Given the description of an element on the screen output the (x, y) to click on. 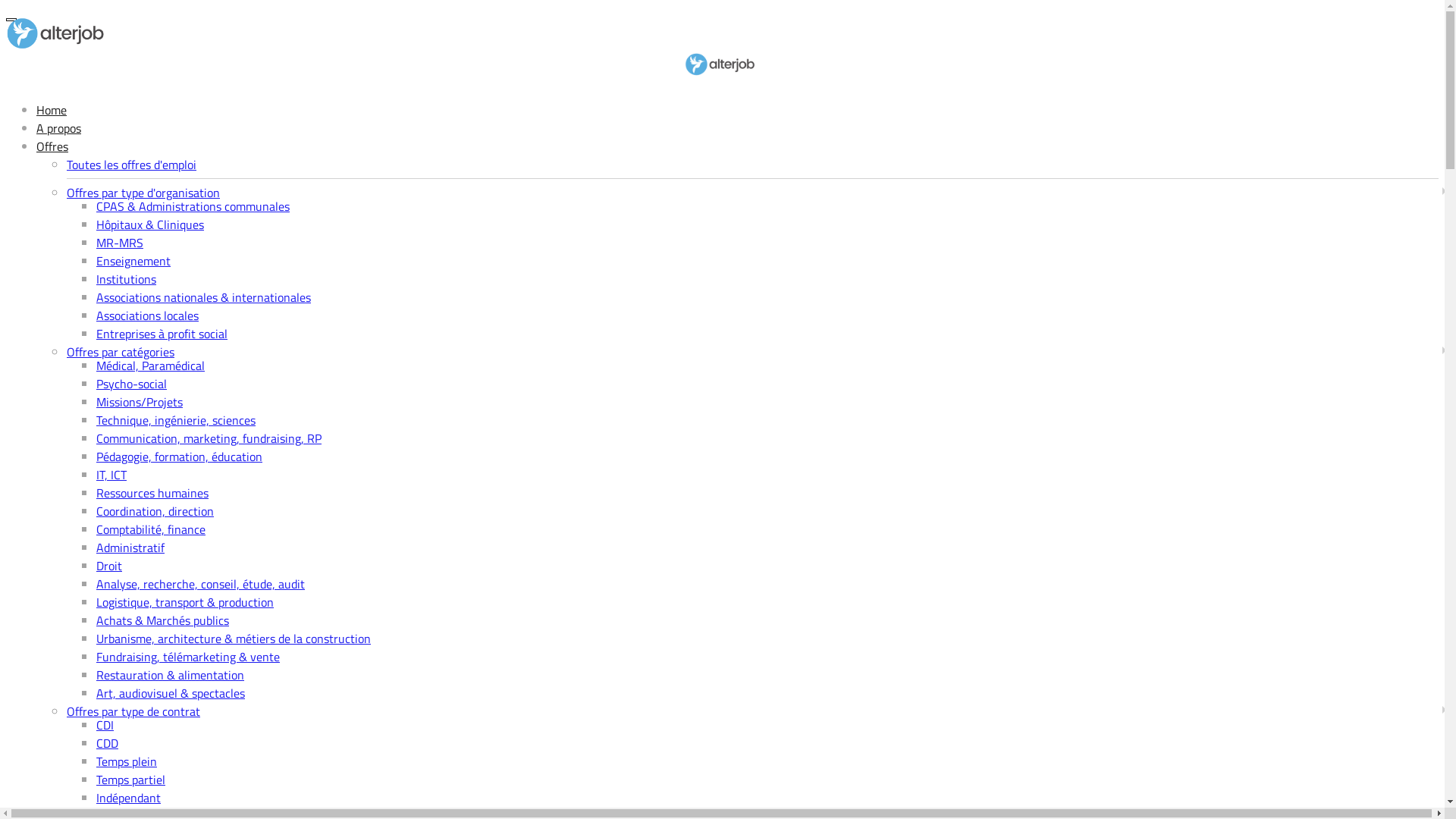
Restauration & alimentation Element type: text (170, 674)
Home Element type: text (51, 109)
Associations locales Element type: text (147, 315)
MR-MRS Element type: text (119, 242)
Offres par type de contrat Element type: text (133, 711)
CDI Element type: text (104, 724)
Offres Element type: text (52, 146)
Temps partiel Element type: text (130, 779)
CPAS & Administrations communales Element type: text (192, 206)
Droit Element type: text (109, 565)
Missions/Projets Element type: text (139, 401)
Ressources humaines Element type: text (152, 492)
IT, ICT Element type: text (111, 474)
Offres par type d'organisation Element type: text (142, 192)
Institutions Element type: text (126, 278)
Toutes les offres d'emploi Element type: text (131, 164)
Communication, marketing, fundraising, RP Element type: text (208, 438)
CDD Element type: text (107, 743)
Associations nationales & internationales Element type: text (203, 297)
A propos Element type: text (58, 128)
Psycho-social Element type: text (131, 383)
Administratif Element type: text (130, 547)
Art, audiovisuel & spectacles Element type: text (170, 693)
Enseignement Element type: text (133, 260)
Temps plein Element type: text (126, 761)
Logistique, transport & production Element type: text (184, 602)
Coordination, direction Element type: text (154, 511)
